Given the description of an element on the screen output the (x, y) to click on. 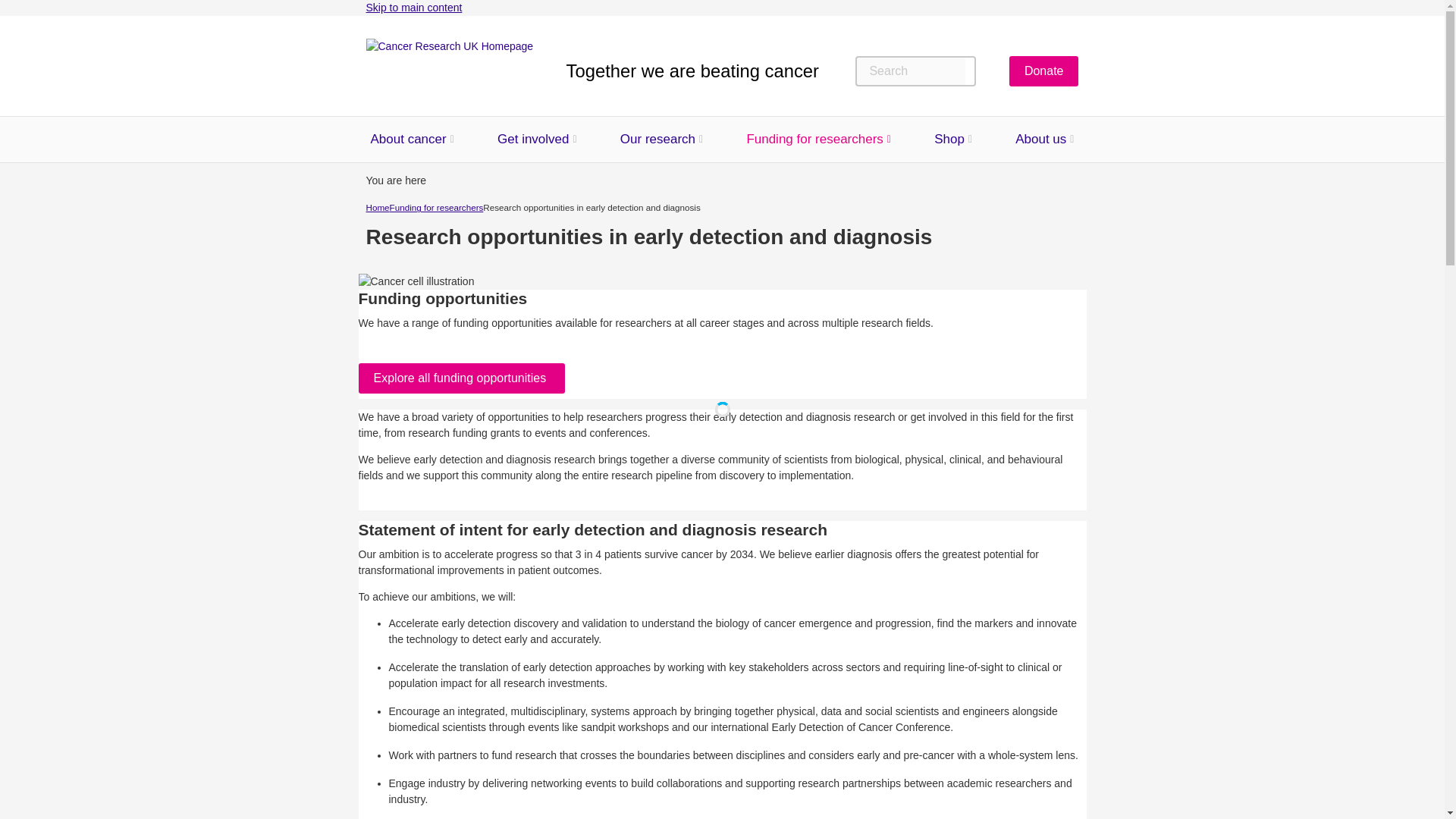
Skip to main content (413, 7)
About cancer (407, 139)
Donate (1043, 71)
Cancer Research UK Homepage (448, 70)
Get involved (533, 139)
